Given the description of an element on the screen output the (x, y) to click on. 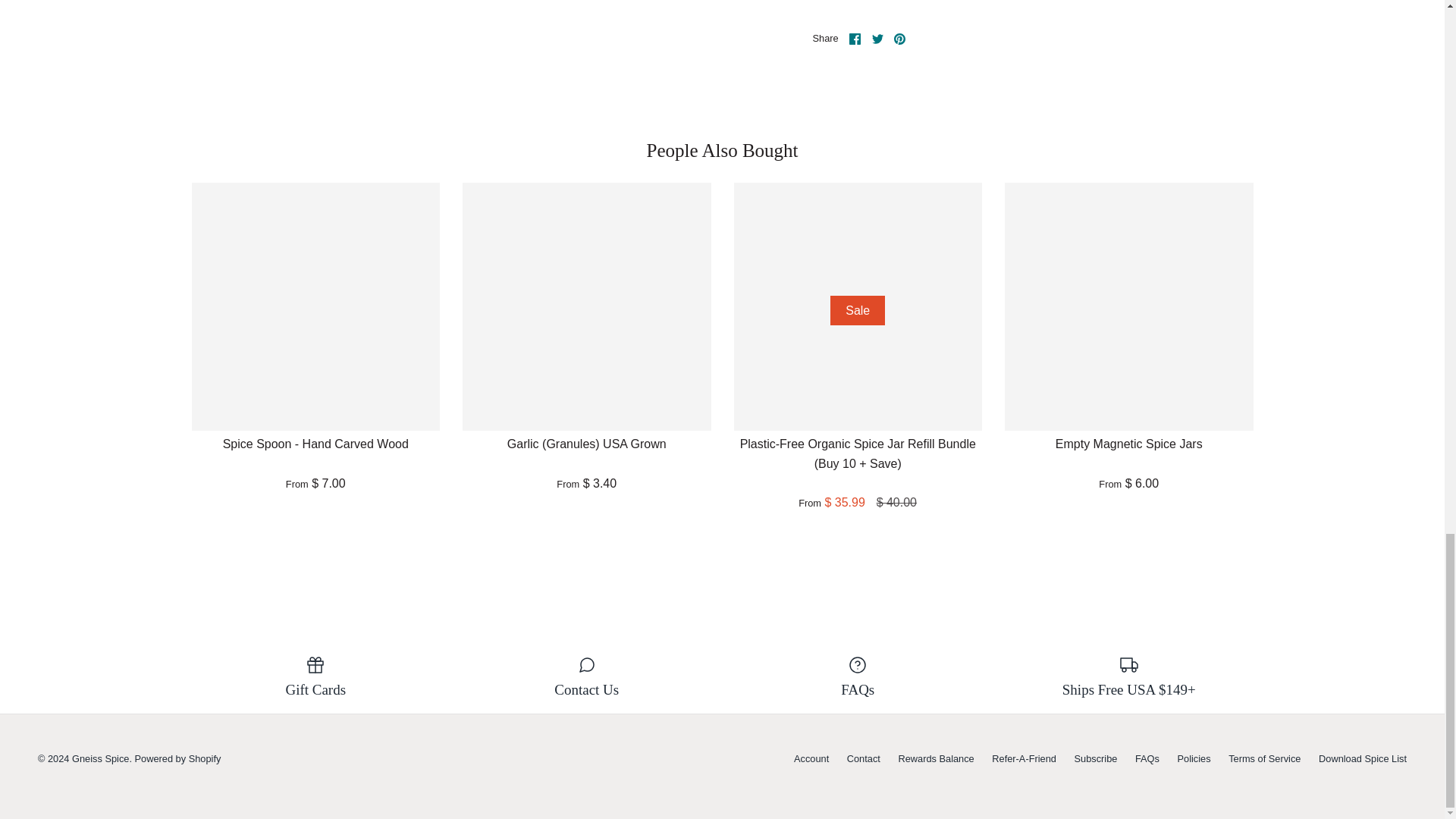
Facebook (854, 39)
Pinterest (899, 39)
Twitter (877, 39)
